Given the description of an element on the screen output the (x, y) to click on. 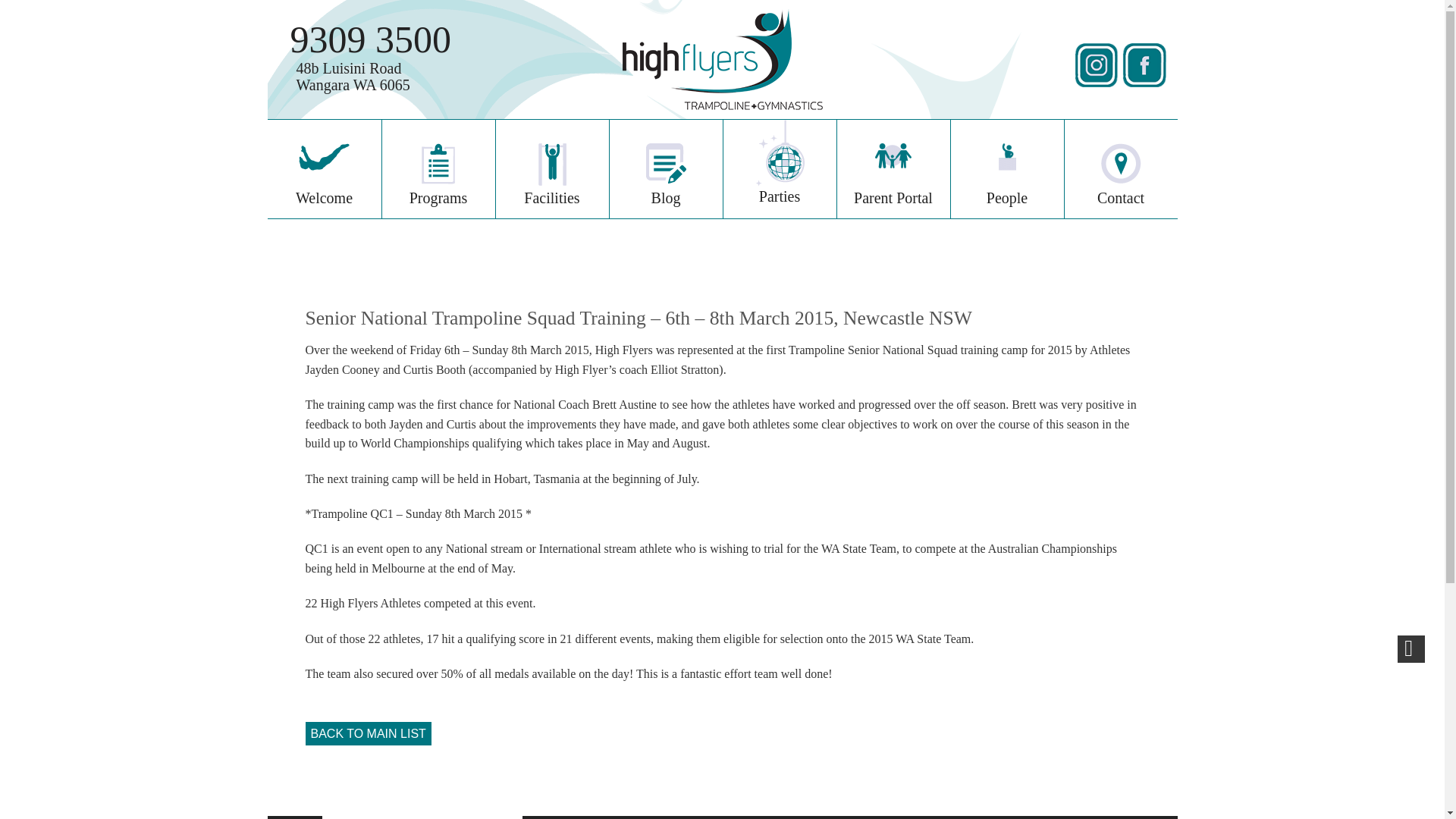
People (1007, 168)
Programs (438, 168)
9309 3500 (352, 75)
Blog (370, 39)
Parent Portal (666, 168)
Welcome (893, 168)
Parties (323, 168)
Facilities (779, 168)
Contact (552, 168)
